Given the description of an element on the screen output the (x, y) to click on. 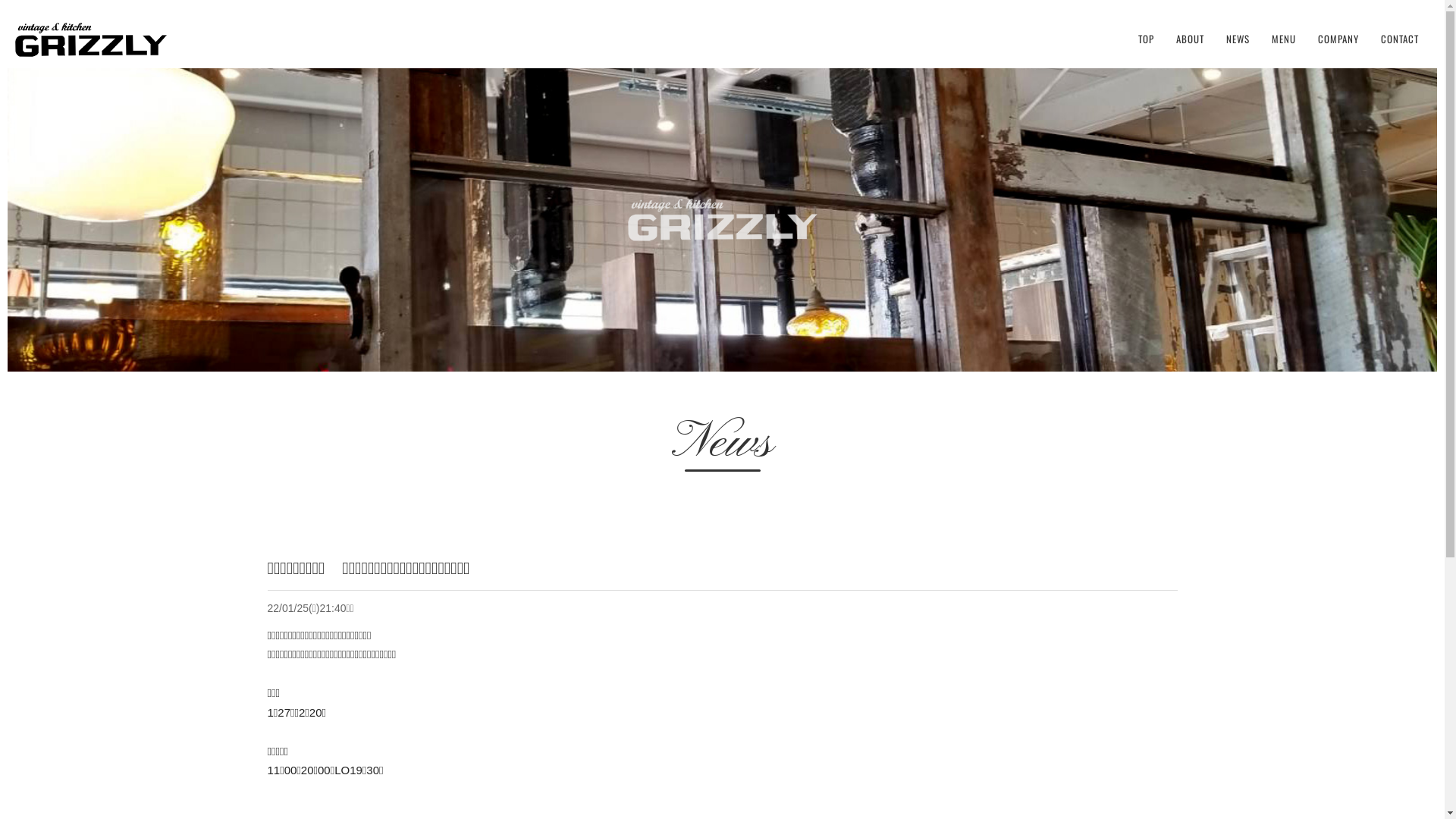
CONTACT Element type: text (1399, 38)
COMPANY Element type: text (1338, 38)
TOP Element type: text (1145, 38)
NEWS Element type: text (1237, 38)
ABOUT Element type: text (1189, 38)
MENU Element type: text (1283, 38)
